Given the description of an element on the screen output the (x, y) to click on. 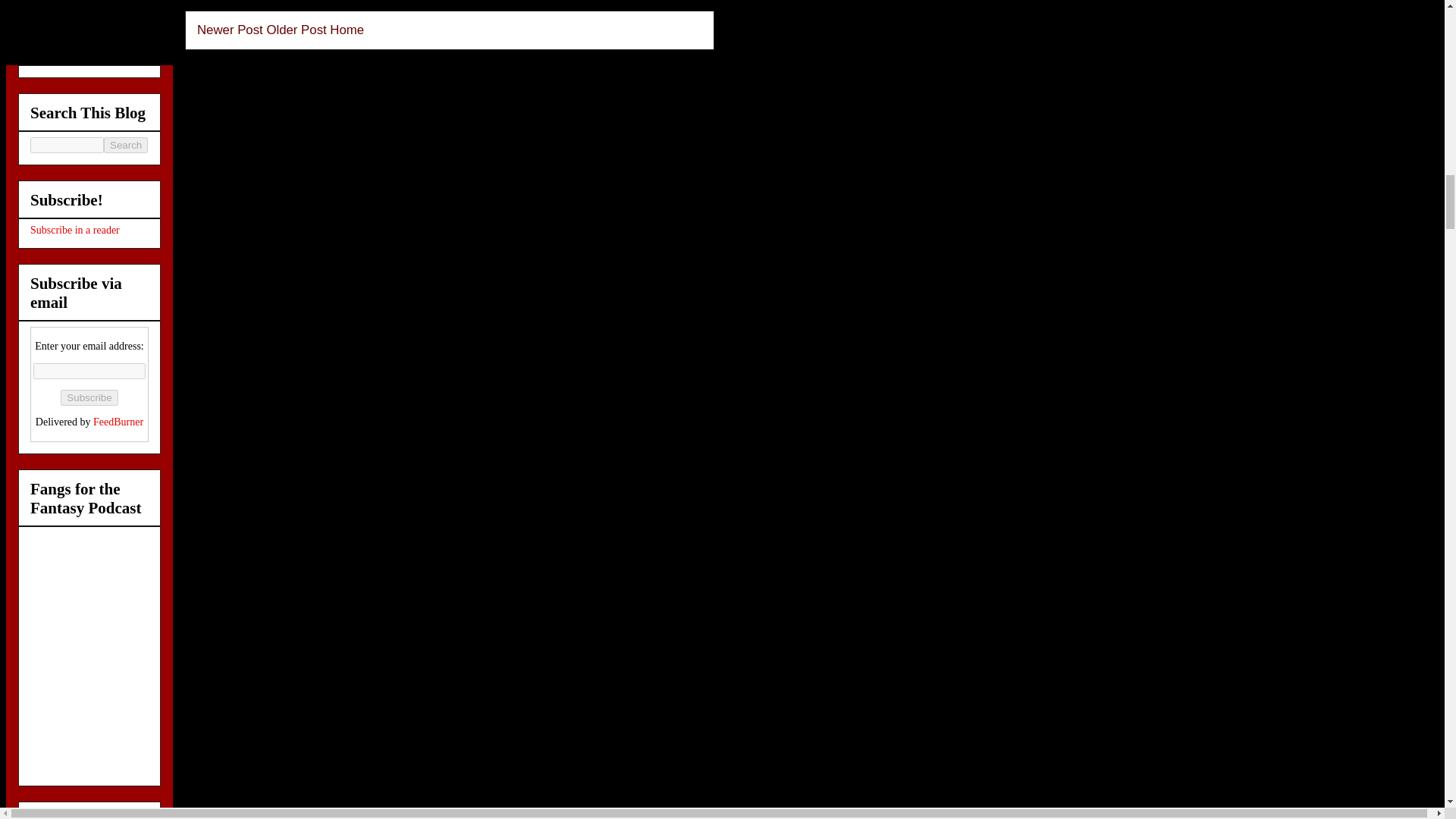
Subscribe (89, 397)
Subscribe to my feed (74, 229)
Older Post (296, 29)
Search (125, 145)
Search (125, 145)
search (66, 145)
Newer Post (229, 29)
search (125, 145)
